Given the description of an element on the screen output the (x, y) to click on. 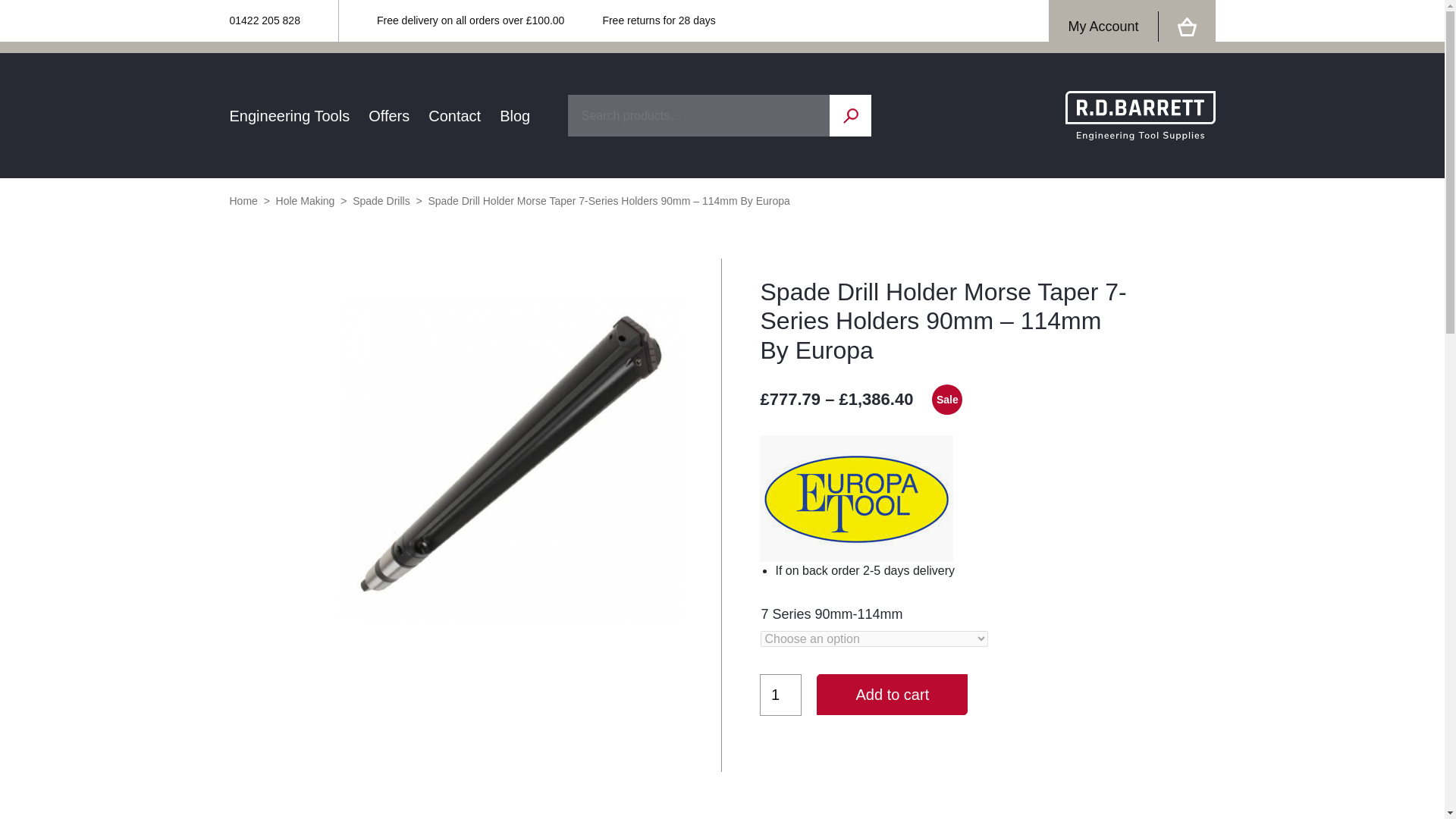
Engineering Tools (288, 114)
My Account (1102, 26)
Hole Making (305, 200)
01422 205 828 (263, 20)
Spade Drills (380, 200)
Contact (454, 114)
Offers (388, 114)
Add to cart (892, 694)
Blog (514, 114)
1 (781, 694)
Home (242, 200)
Search (849, 115)
